Given the description of an element on the screen output the (x, y) to click on. 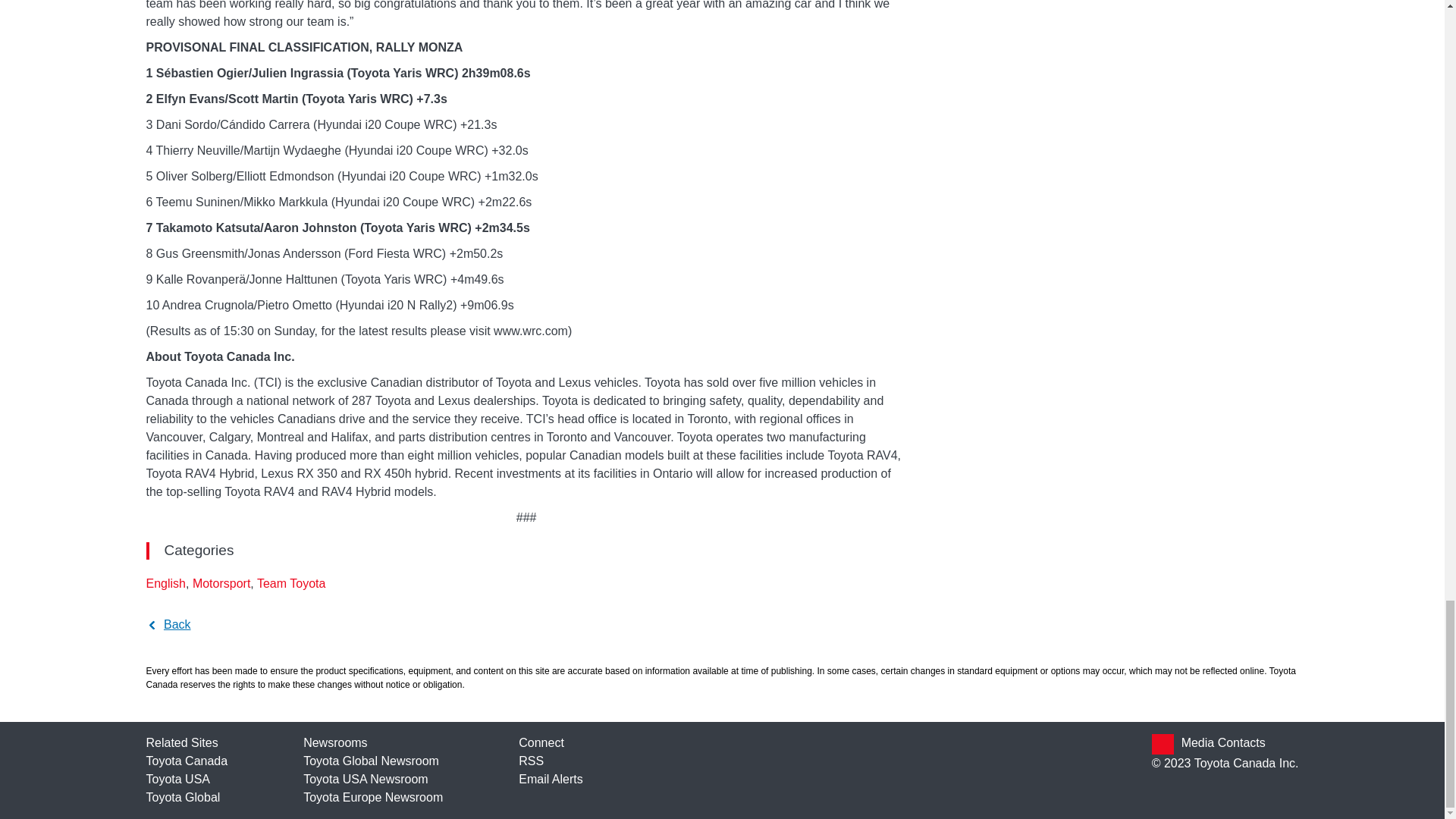
Toyota USA Newsroom (365, 779)
Toyota Global (182, 797)
Toyota USA (177, 779)
Toyota Global Newsroom (370, 760)
Toyota Canada (186, 760)
